Given the description of an element on the screen output the (x, y) to click on. 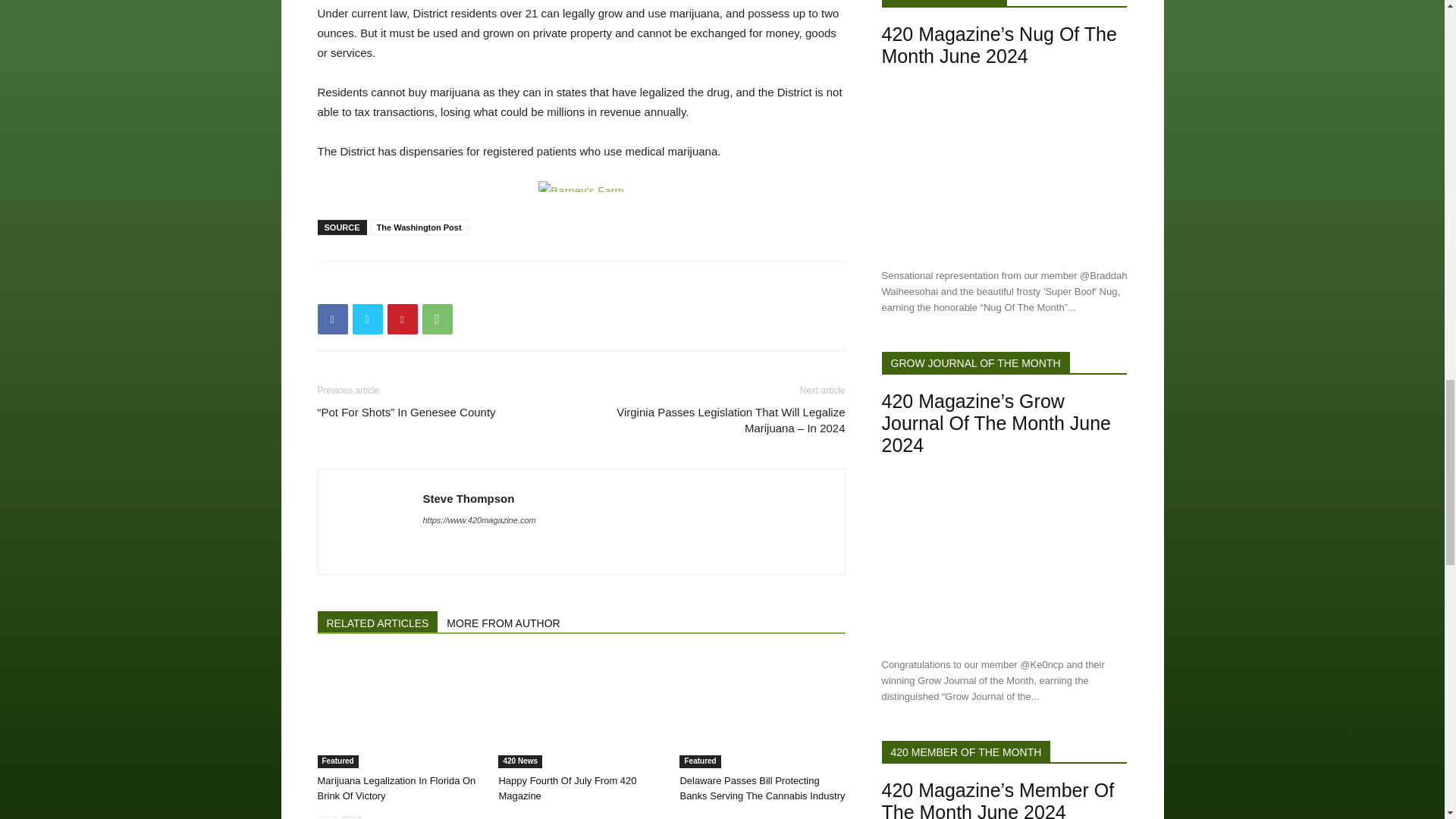
Barney's Farm (581, 185)
bottomFacebookLike (430, 285)
